Given the description of an element on the screen output the (x, y) to click on. 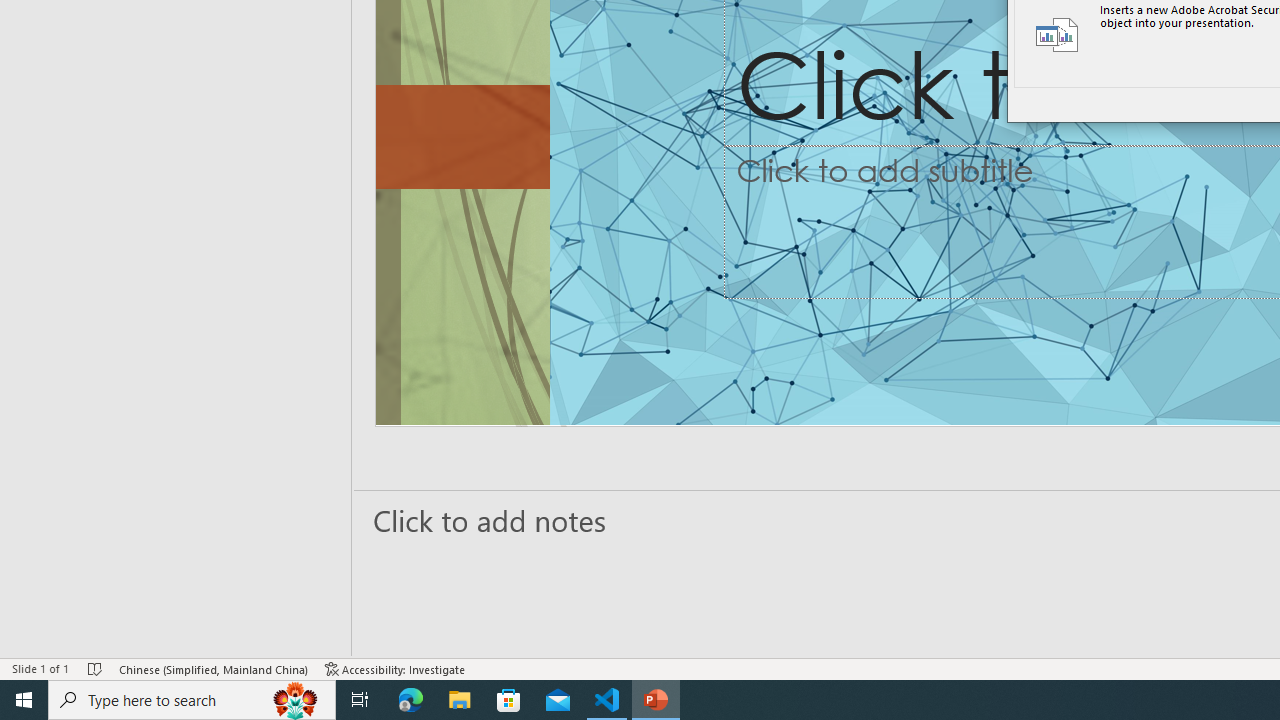
Microsoft Edge (411, 699)
